Given the description of an element on the screen output the (x, y) to click on. 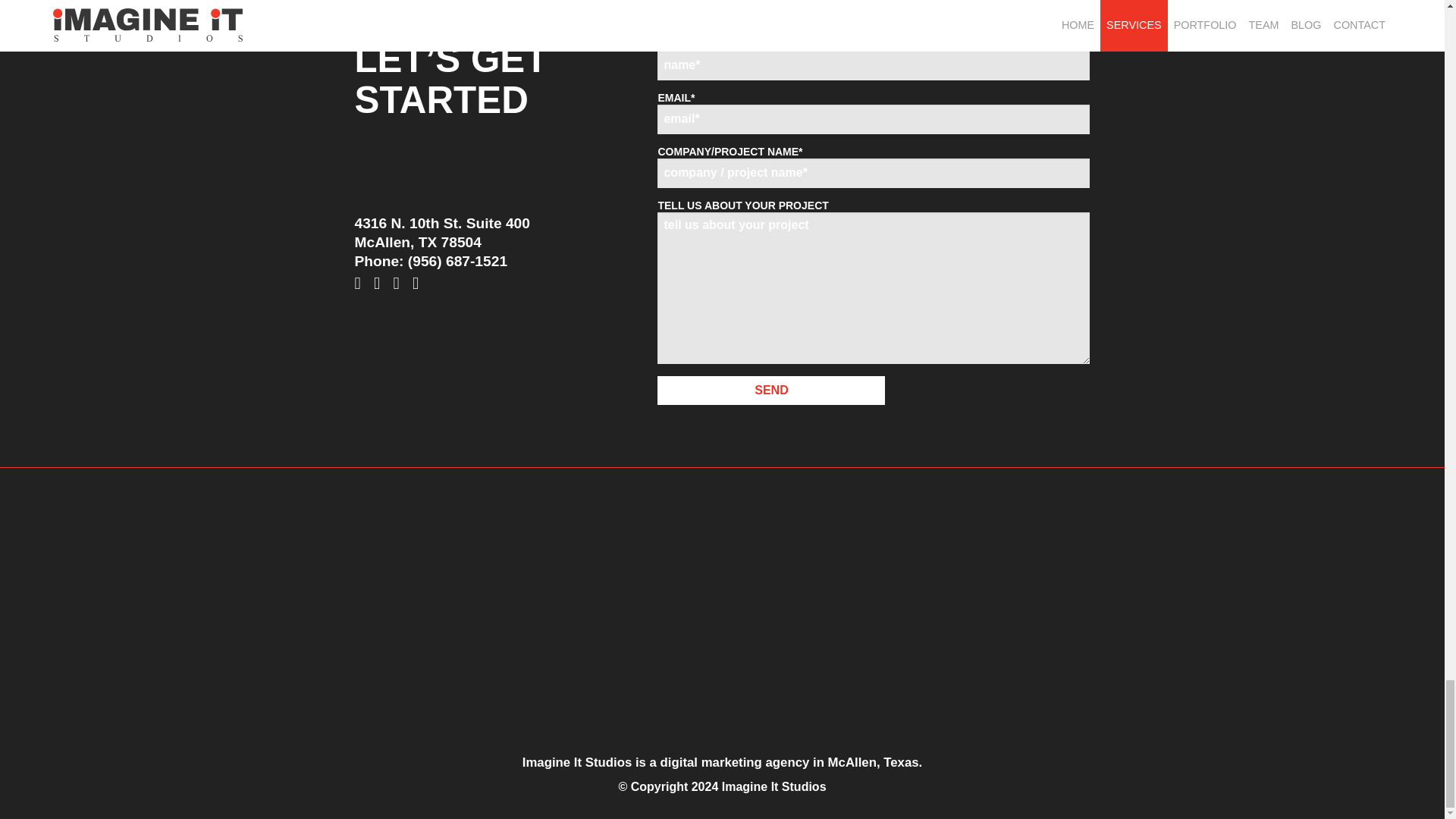
Imagine It Studios Facebook (361, 283)
Imagine It Studios Twitter (381, 283)
Imagine It Studios Linked In (420, 283)
Send (771, 389)
Imagine It Studios Instagram (401, 283)
